Given the description of an element on the screen output the (x, y) to click on. 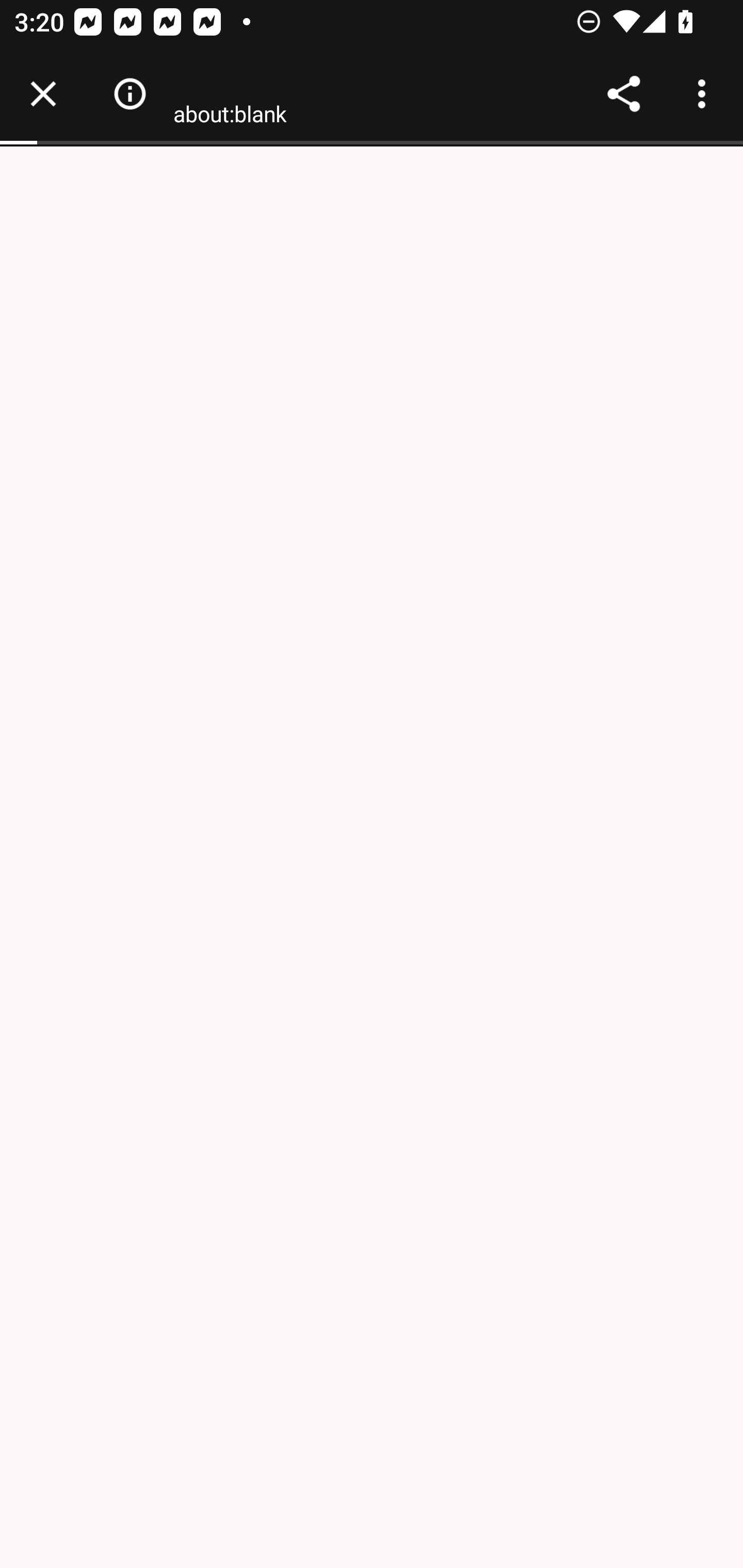
Close tab (43, 93)
Share link address (623, 93)
Customize and control Google Chrome (705, 93)
Your connection to this site is not secure (129, 93)
about:blank (229, 117)
